Given the description of an element on the screen output the (x, y) to click on. 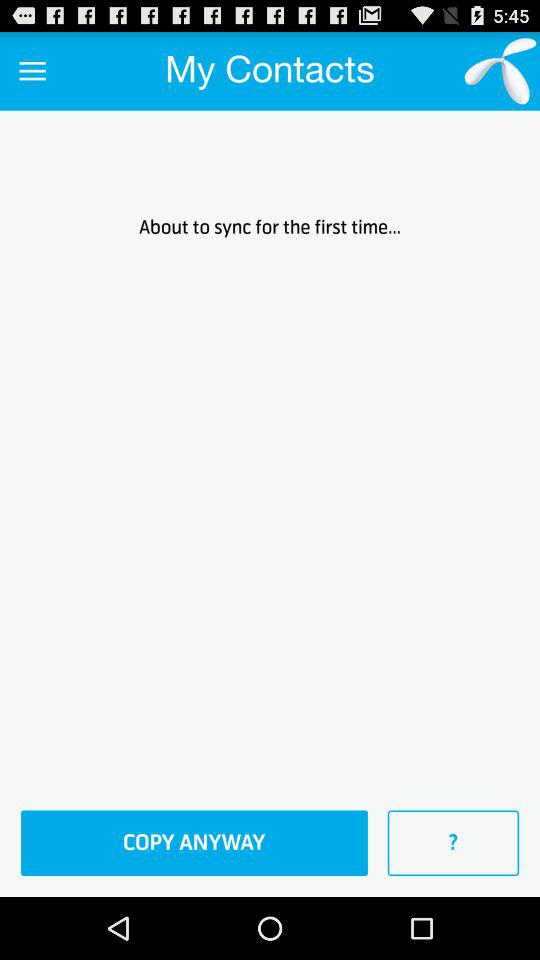
select the copy anyway at the bottom (194, 843)
